Given the description of an element on the screen output the (x, y) to click on. 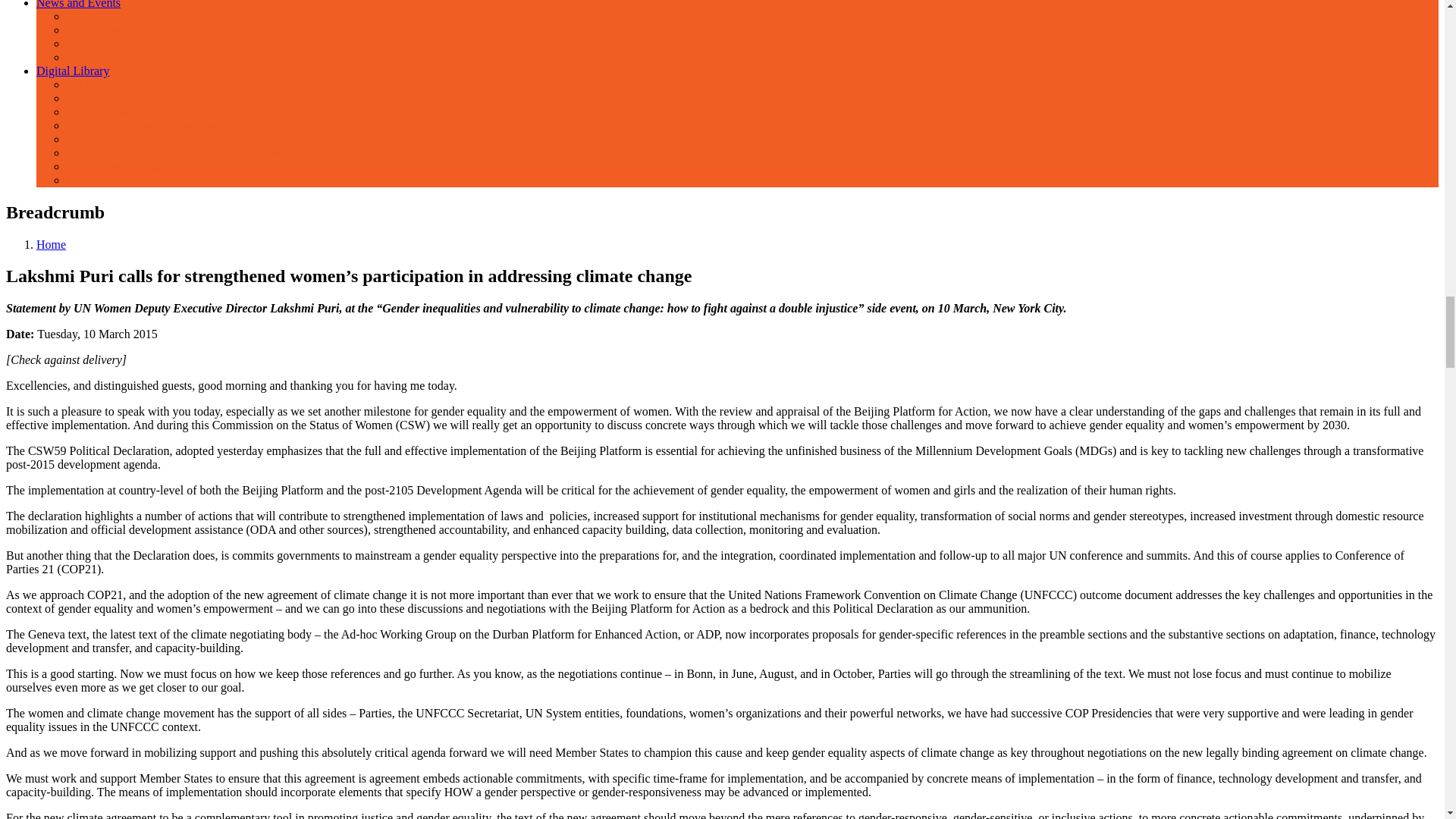
World survey on the role of women in development (191, 152)
